Given the description of an element on the screen output the (x, y) to click on. 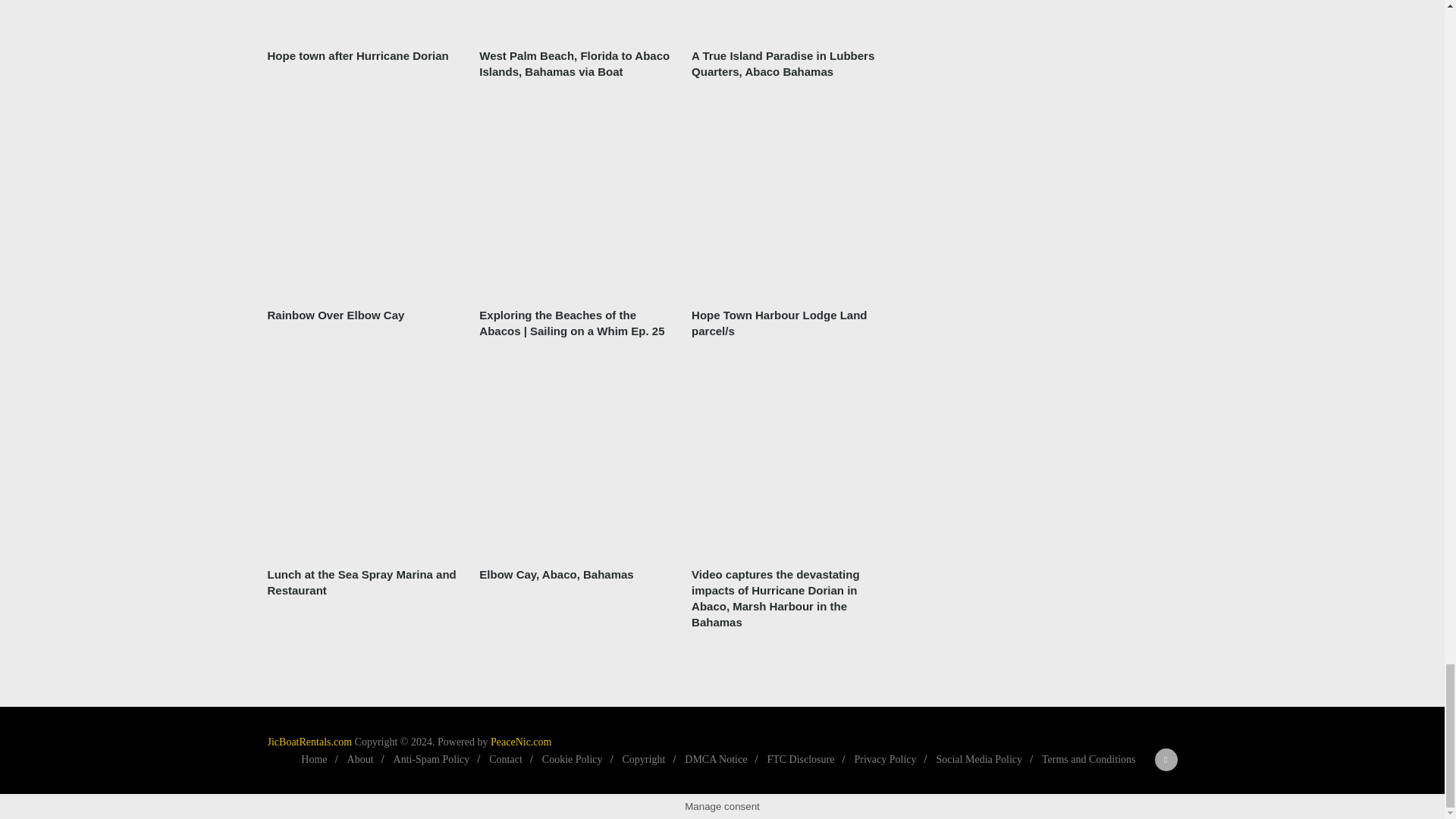
Hope town after Hurricane Dorian (363, 18)
West Palm Beach, Florida to Abaco Islands, Bahamas via Boat (575, 18)
Rainbow Over Elbow Cay (335, 314)
West Palm Beach, Florida to Abaco Islands, Bahamas via Boat (575, 63)
A True Island Paradise in Lubbers Quarters, Abaco Bahamas (788, 18)
A True Island Paradise in Lubbers Quarters, Abaco Bahamas (788, 63)
Hope town after Hurricane Dorian (357, 55)
Rainbow Over Elbow Cay (363, 228)
